Given the description of an element on the screen output the (x, y) to click on. 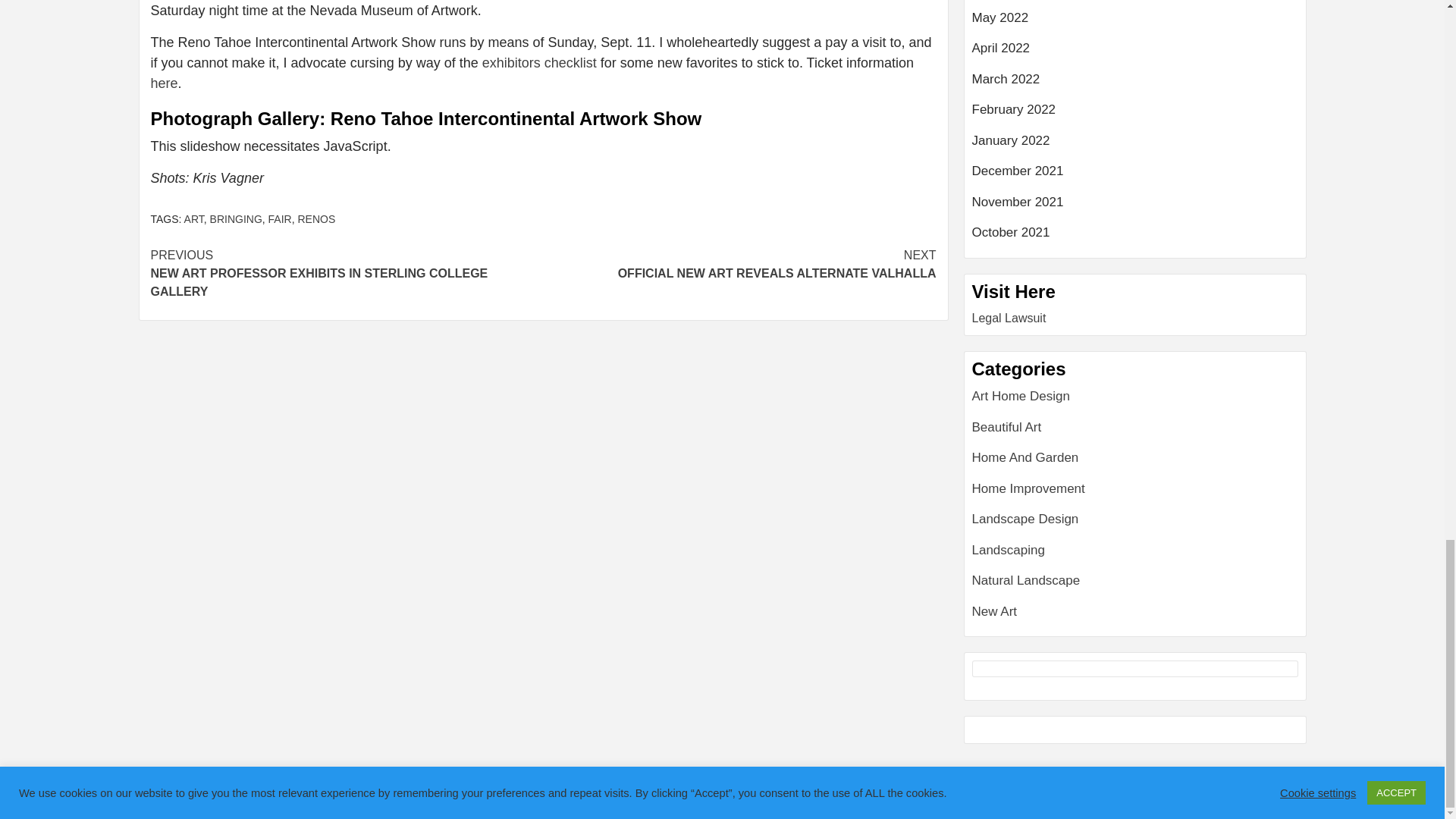
RENOS (315, 218)
BRINGING (739, 264)
ART (235, 218)
exhibitors checklist (193, 218)
here (538, 62)
FAIR (163, 83)
